Given the description of an element on the screen output the (x, y) to click on. 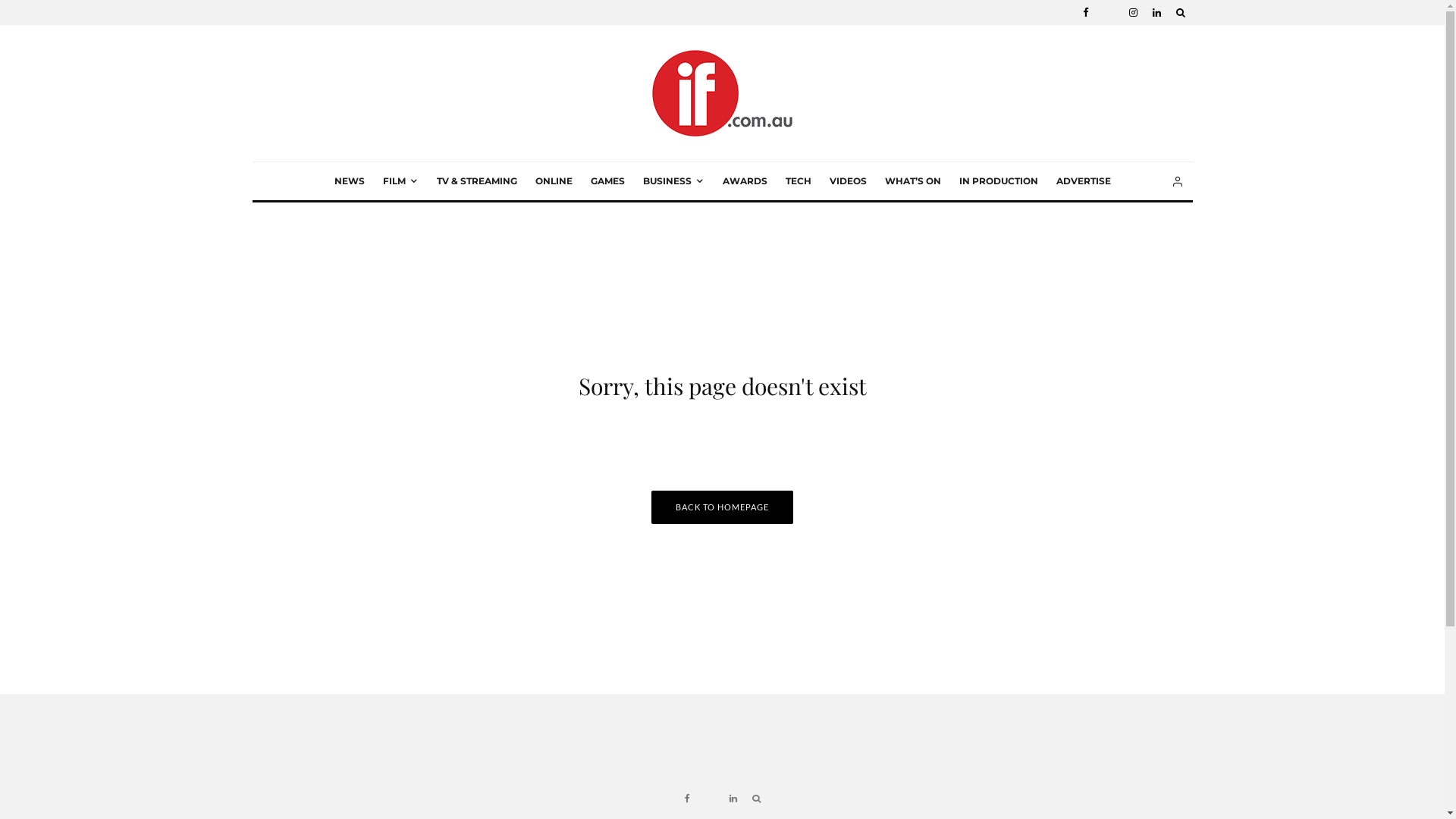
TV & STREAMING Element type: text (476, 181)
FILM Element type: text (399, 181)
NEWS Element type: text (348, 181)
BACK TO HOMEPAGE Element type: text (722, 507)
IN PRODUCTION Element type: text (997, 181)
ONLINE Element type: text (553, 181)
ADVERTISE Element type: text (1082, 181)
GAMES Element type: text (606, 181)
TECH Element type: text (798, 181)
AWARDS Element type: text (743, 181)
VIDEOS Element type: text (847, 181)
Log In Element type: text (640, 404)
BUSINESS Element type: text (673, 181)
